Given the description of an element on the screen output the (x, y) to click on. 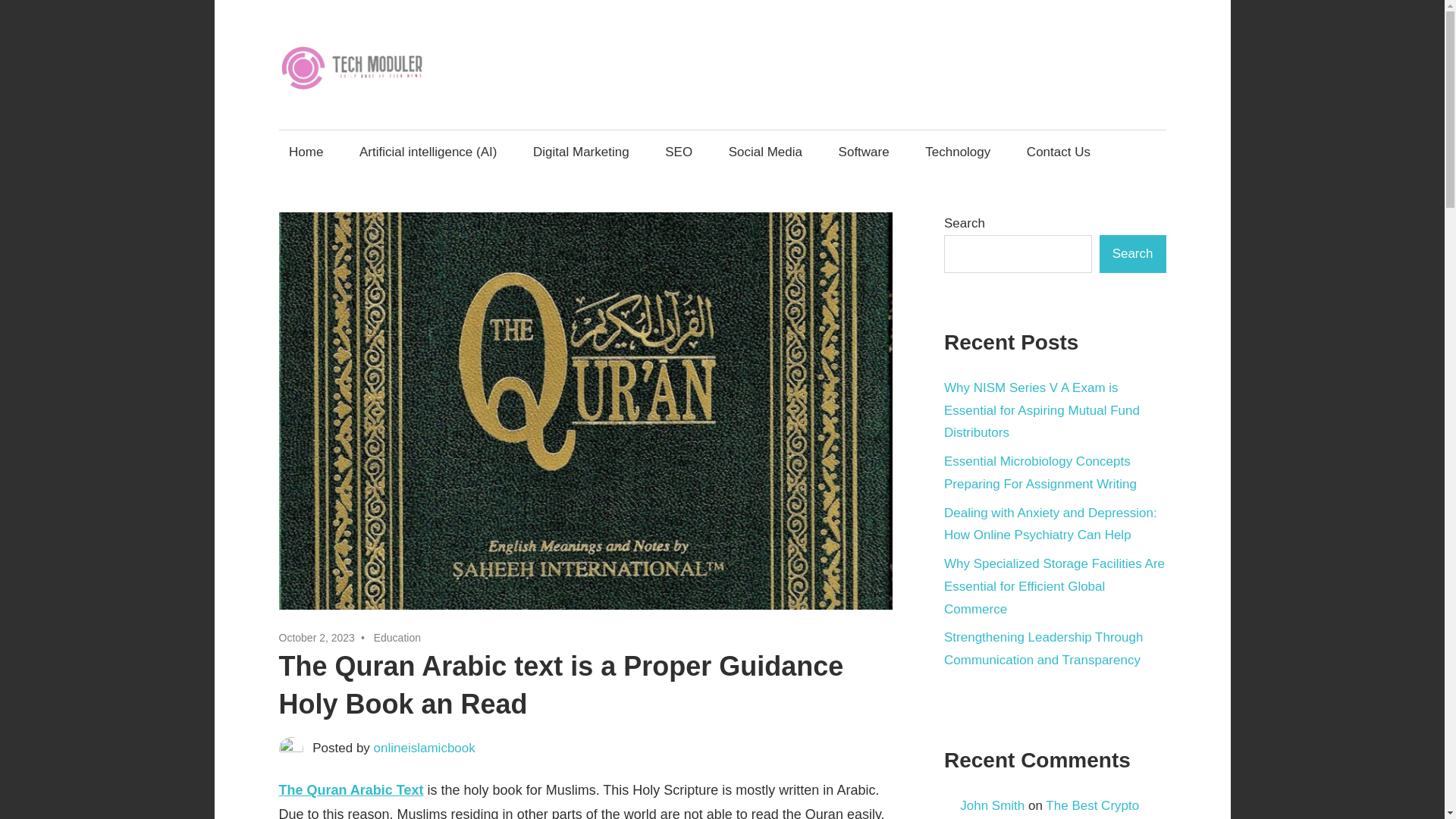
October 2, 2023 (317, 637)
Search (1132, 253)
John Smith (992, 805)
Contact Us (1058, 151)
The Quran Arabic Text (351, 789)
SEO (679, 151)
Social Media (764, 151)
Software (863, 151)
